Given the description of an element on the screen output the (x, y) to click on. 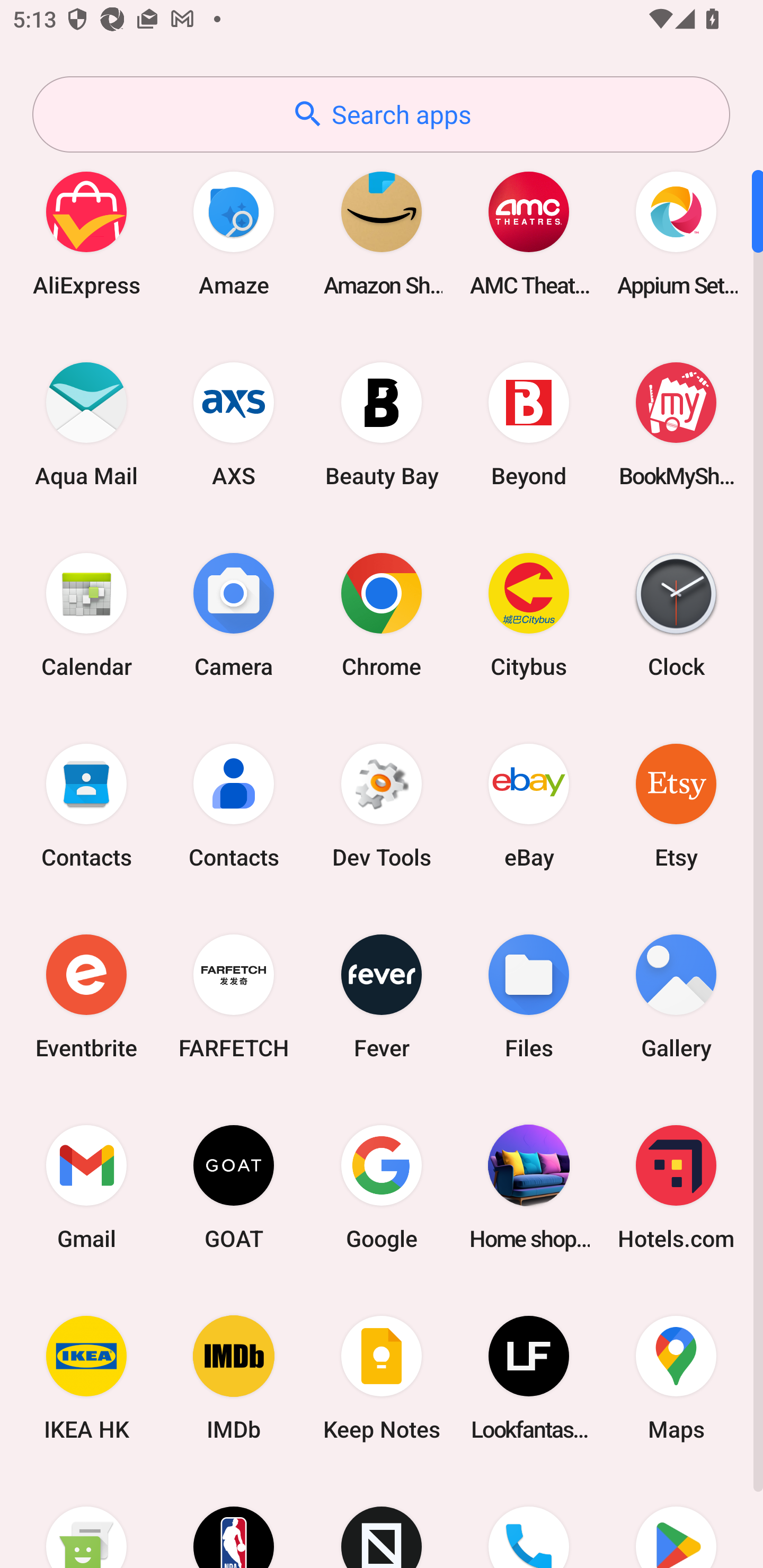
  Search apps (381, 114)
AliExpress (86, 233)
Amaze (233, 233)
Amazon Shopping (381, 233)
AMC Theatres (528, 233)
Appium Settings (676, 233)
Aqua Mail (86, 424)
AXS (233, 424)
Beauty Bay (381, 424)
Beyond (528, 424)
BookMyShow (676, 424)
Calendar (86, 614)
Camera (233, 614)
Chrome (381, 614)
Citybus (528, 614)
Clock (676, 614)
Contacts (86, 805)
Contacts (233, 805)
Dev Tools (381, 805)
eBay (528, 805)
Etsy (676, 805)
Eventbrite (86, 996)
FARFETCH (233, 996)
Fever (381, 996)
Files (528, 996)
Gallery (676, 996)
Gmail (86, 1186)
GOAT (233, 1186)
Google (381, 1186)
Home shopping (528, 1186)
Hotels.com (676, 1186)
IKEA HK (86, 1377)
IMDb (233, 1377)
Keep Notes (381, 1377)
Lookfantastic (528, 1377)
Maps (676, 1377)
Messaging (86, 1520)
NBA (233, 1520)
Novelship (381, 1520)
Phone (528, 1520)
Play Store (676, 1520)
